Given the description of an element on the screen output the (x, y) to click on. 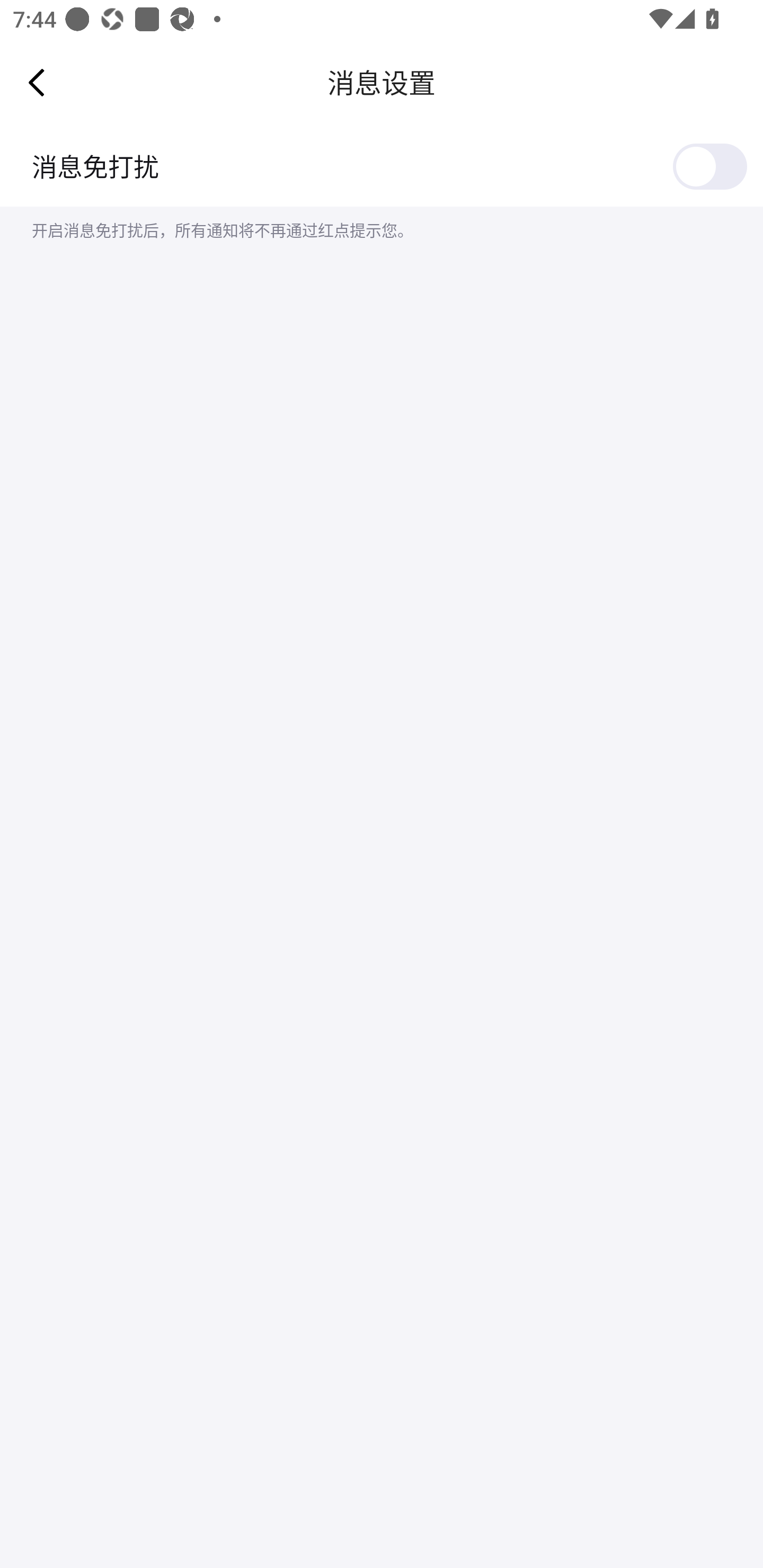
Navigate up (36, 82)
消息免打扰 (381, 166)
